Given the description of an element on the screen output the (x, y) to click on. 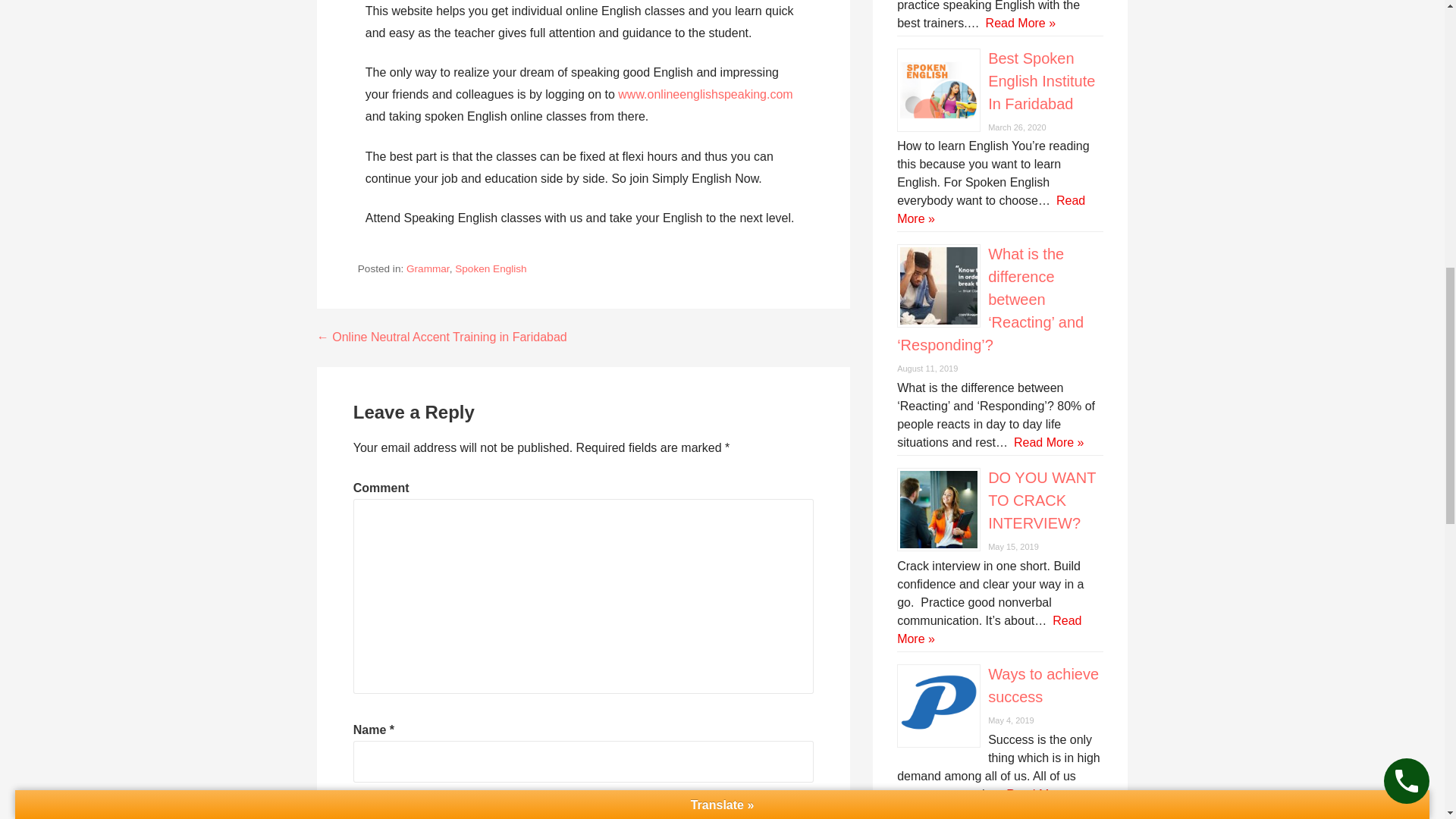
Ways to achieve success (1043, 685)
Best Spoken English Institute In Faridabad (1041, 80)
DO YOU WANT TO CRACK INTERVIEW? (1042, 500)
Permalink to DO YOU WANT TO CRACK INTERVIEW? (1042, 500)
Grammar (427, 268)
Spoken English (489, 268)
Permalink to Best Spoken English Institute In Faridabad (1041, 80)
Permalink to Ways to achieve success (1043, 685)
www.onlineenglishspeaking.com (704, 93)
